Given the description of an element on the screen output the (x, y) to click on. 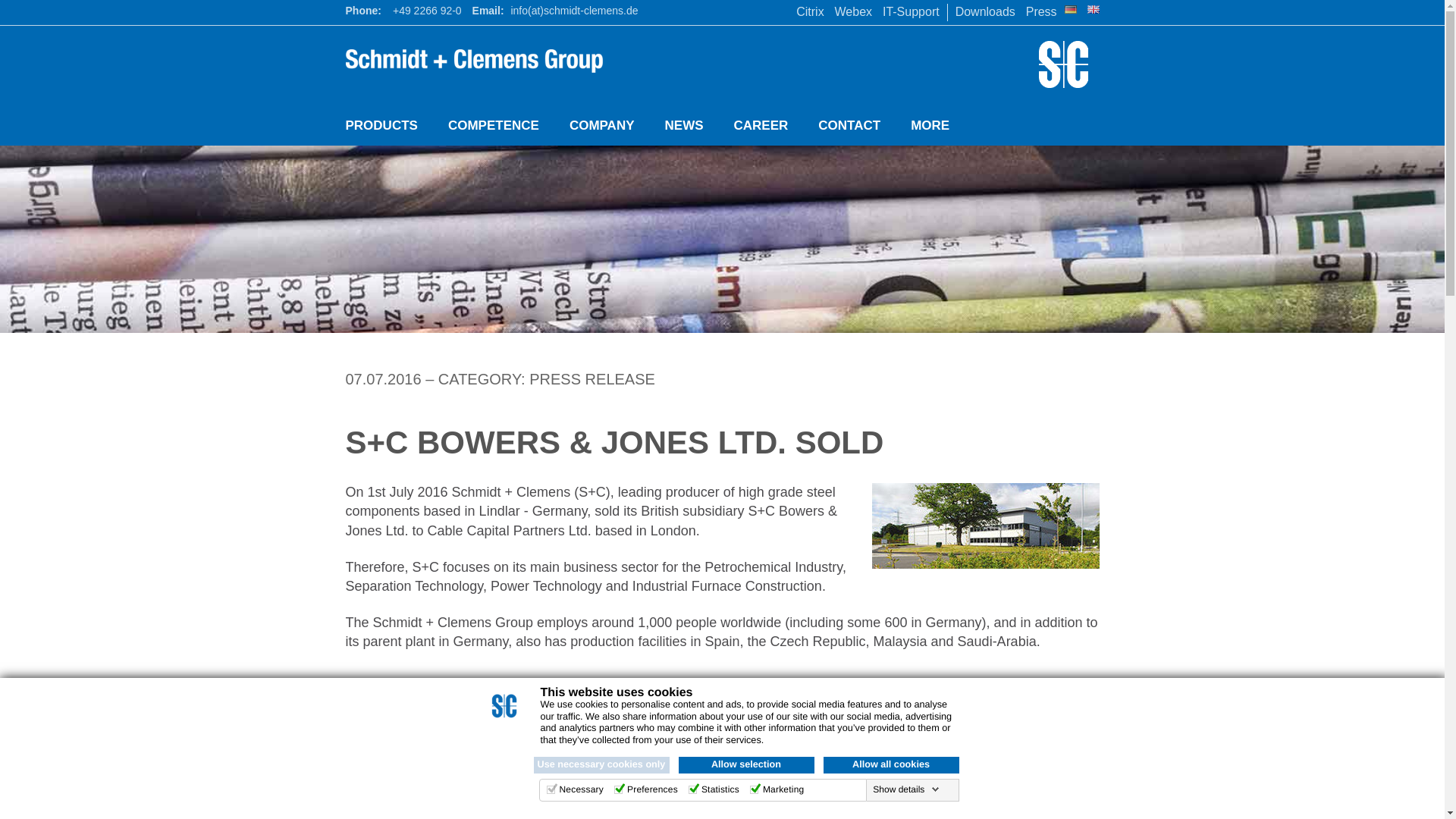
Allow selection (745, 764)
Allow all cookies (891, 764)
Show details (905, 788)
Use necessary cookies only (601, 764)
